Given the description of an element on the screen output the (x, y) to click on. 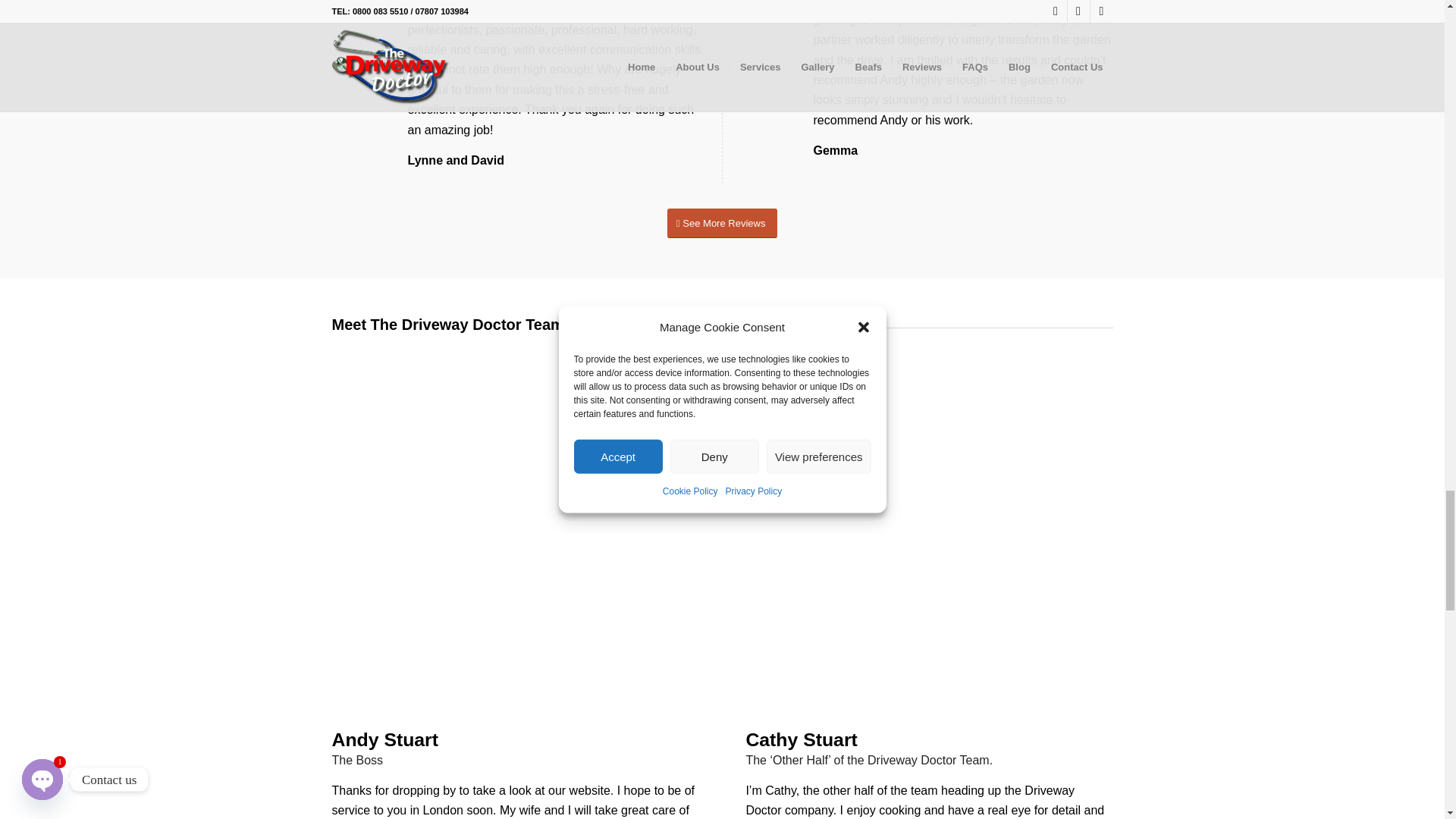
See More Reviews (721, 223)
